Given the description of an element on the screen output the (x, y) to click on. 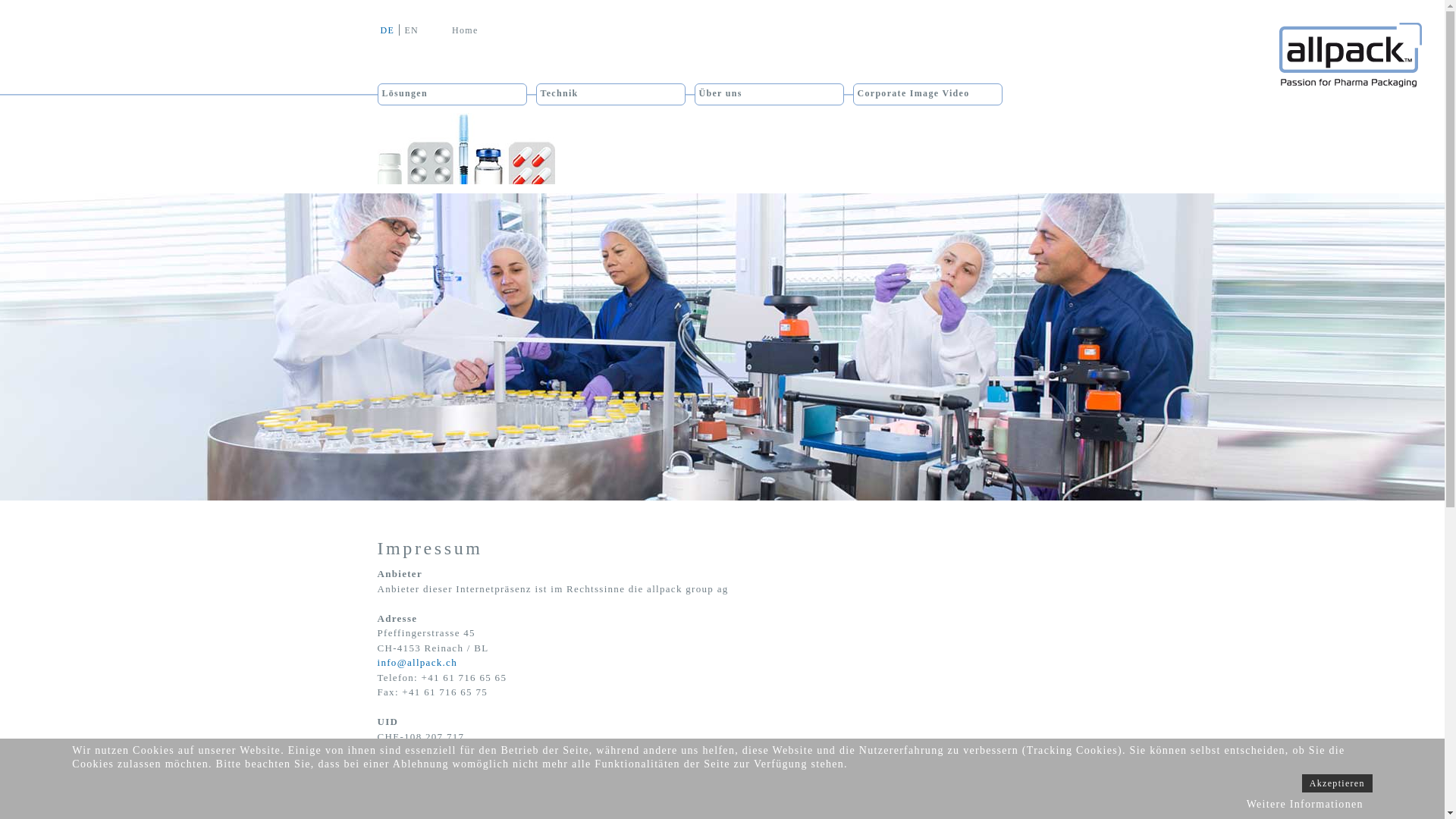
Home Element type: text (472, 30)
Corporate Image Video Element type: text (912, 93)
DE Element type: text (389, 30)
Weitere Informationen Element type: text (1304, 804)
Technik Element type: text (558, 93)
Akzeptieren Element type: text (1337, 783)
info@allpack.ch Element type: text (417, 662)
Allpack Group Element type: hover (1350, 61)
EN Element type: text (411, 30)
